Given the description of an element on the screen output the (x, y) to click on. 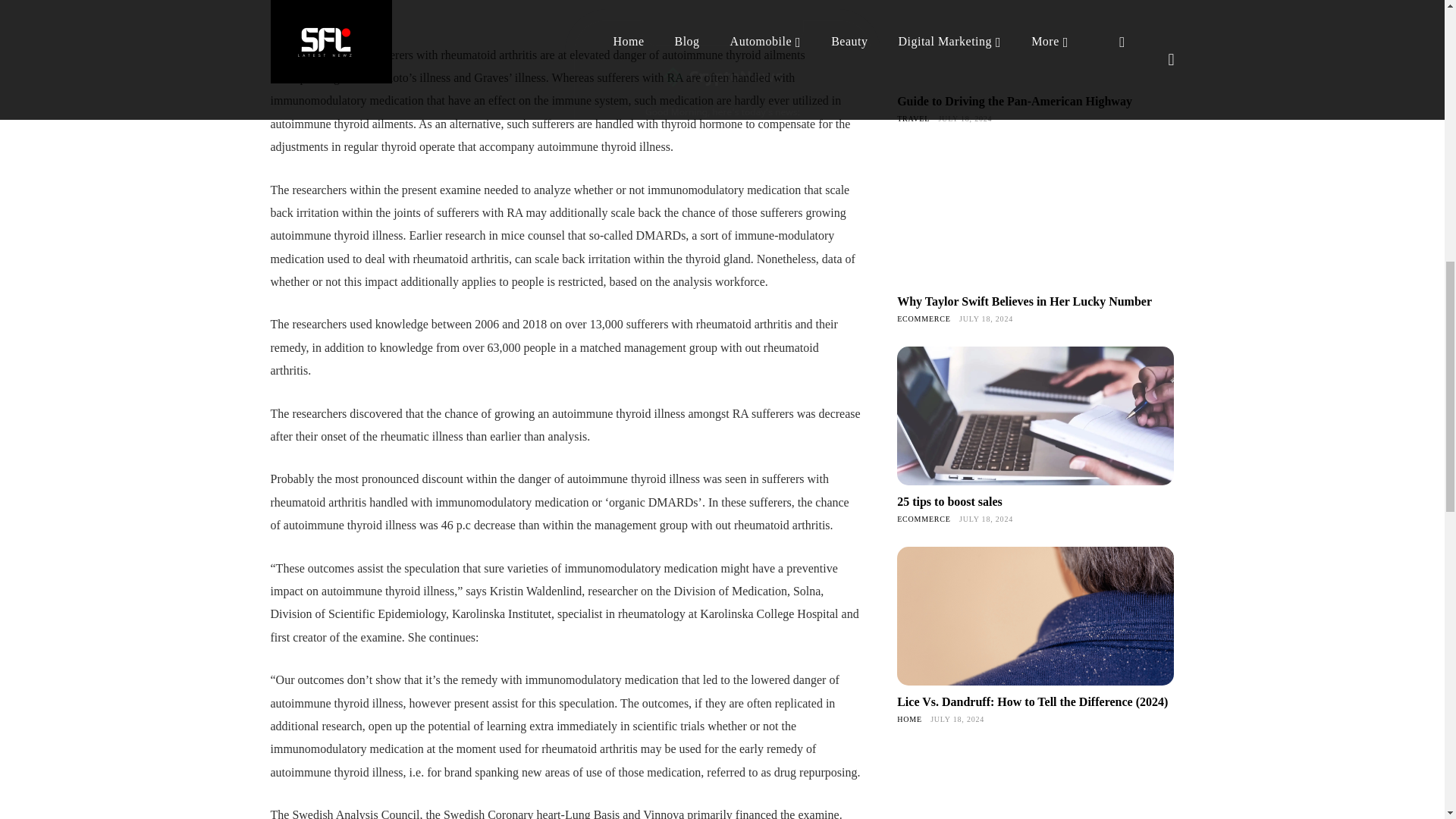
25 tips to boost sales (949, 501)
Guide to Driving the Pan-American Highway (1034, 42)
25 tips to boost sales (1034, 415)
Why Taylor Swift Believes in Her Lucky Number (1023, 300)
Guide to Driving the Pan-American Highway (1014, 101)
Why Taylor Swift Believes in Her Lucky Number (1034, 215)
